Given the description of an element on the screen output the (x, y) to click on. 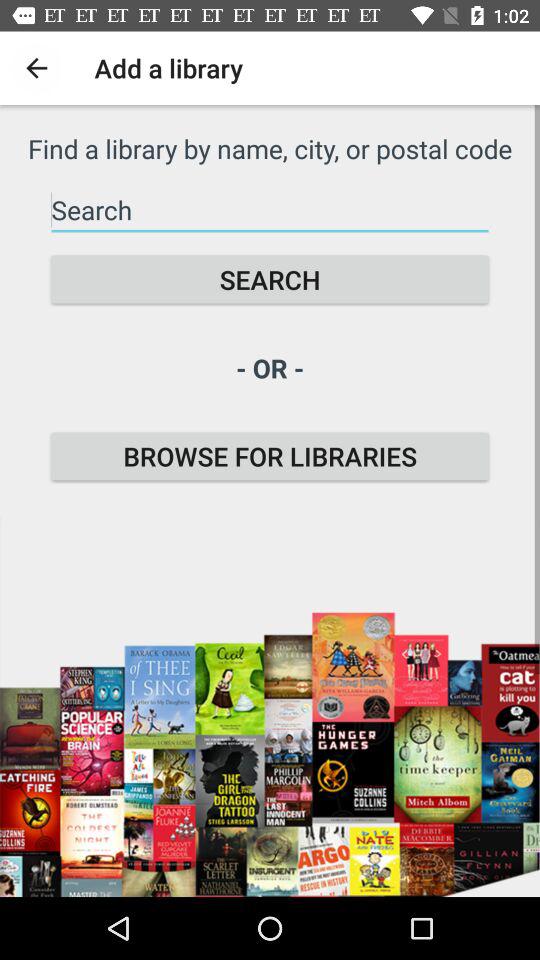
search for library (269, 210)
